Given the description of an element on the screen output the (x, y) to click on. 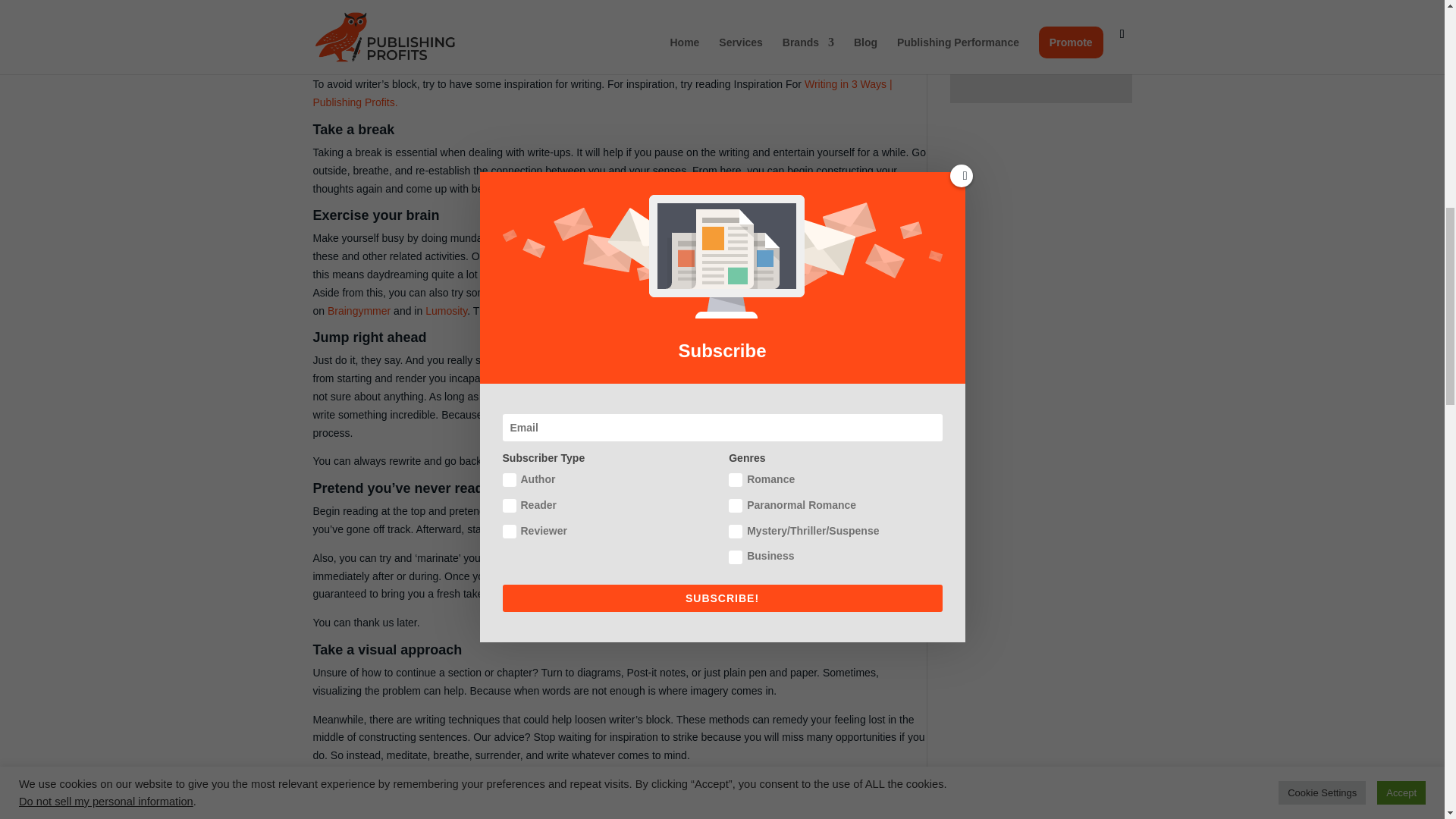
Lumosity (446, 310)
Braingymmer (358, 310)
SUBSCRIBE! (1040, 58)
